Given the description of an element on the screen output the (x, y) to click on. 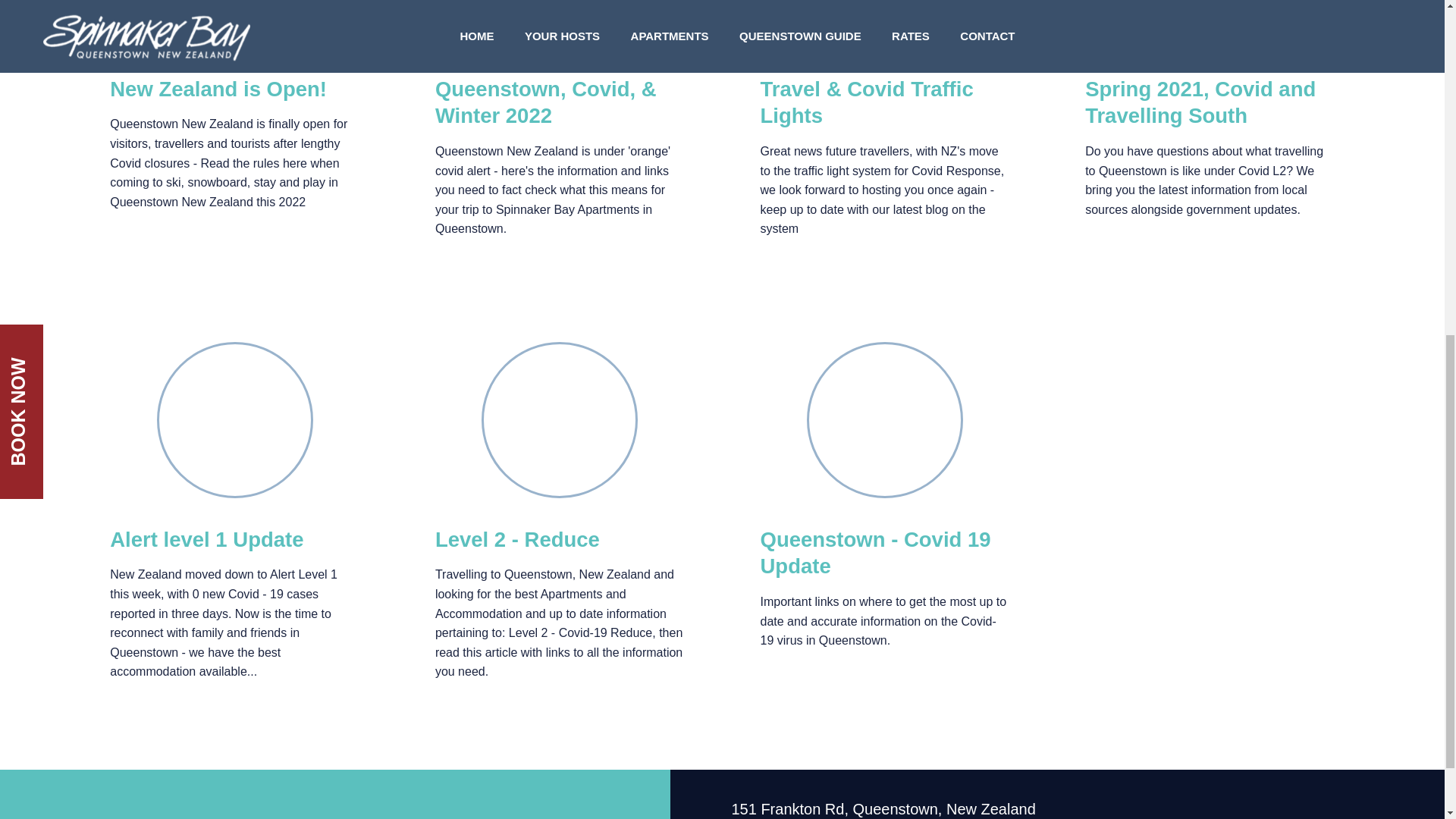
New Zealand is Open! (218, 88)
Level 2 - Reduce (517, 539)
Alert level 1 Update (206, 539)
Read more about 'Spring, Covid and Travelling South'... (1200, 101)
Queenstown - Covid 19 Update (875, 552)
Read more about 'New Zealand is Open!'... (234, 22)
Spring 2021, Covid and Travelling South (1200, 101)
Read more about 'Covid -19 Alert Level 1 Update '... (234, 419)
Read more about 'Spring, Covid and Travelling South'... (1209, 22)
Read more about 'Covid -19 Alert Level 1 Update '... (206, 539)
Read more about 'New Zealand is Open!'... (218, 88)
